Given the description of an element on the screen output the (x, y) to click on. 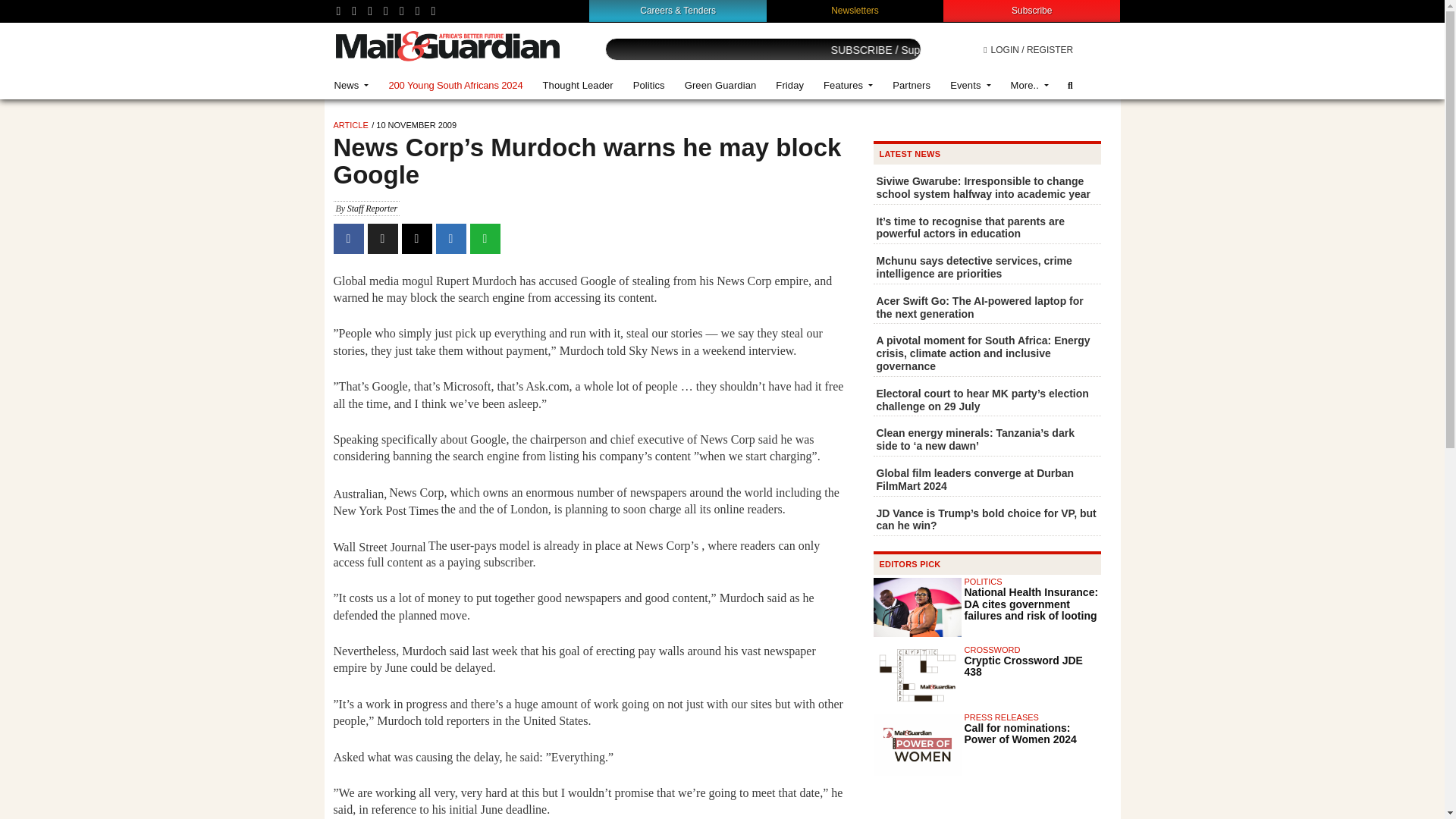
News (351, 85)
Newsletters (855, 9)
News (351, 85)
Green Guardian (721, 85)
Friday (789, 85)
Thought Leader (577, 85)
Politics (649, 85)
200 Young South Africans 2024 (455, 85)
Subscribe (1031, 9)
